Given the description of an element on the screen output the (x, y) to click on. 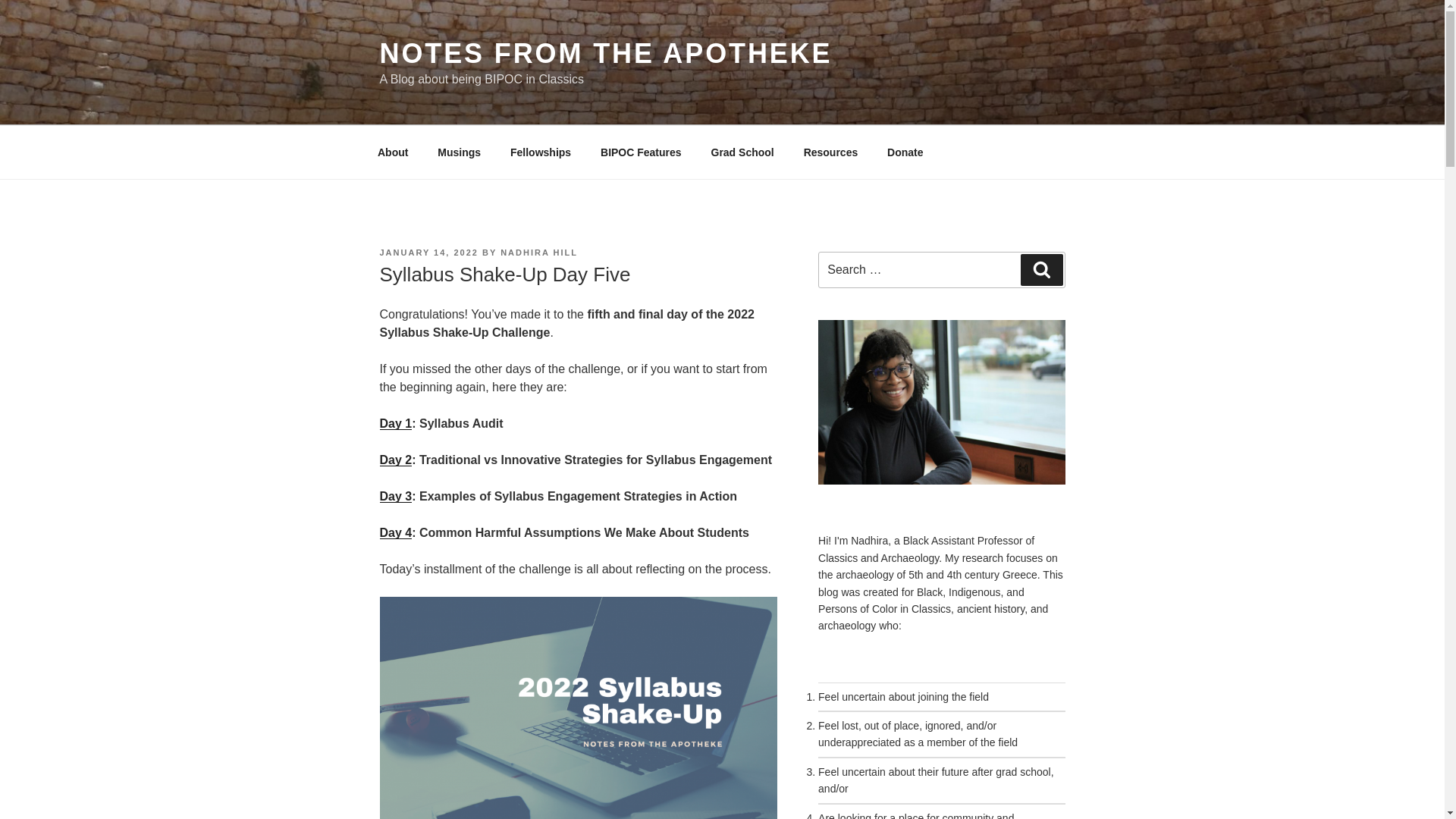
BIPOC Features (641, 151)
NOTES FROM THE APOTHEKE (604, 52)
Day 1 (395, 422)
Grad School (742, 151)
About (392, 151)
Musings (460, 151)
Day 2 (395, 459)
JANUARY 14, 2022 (427, 252)
Day 4 (395, 532)
NADHIRA HILL (539, 252)
Fellowships (541, 151)
Resources (830, 151)
Day 3 (395, 495)
Donate (905, 151)
Search (1041, 269)
